Given the description of an element on the screen output the (x, y) to click on. 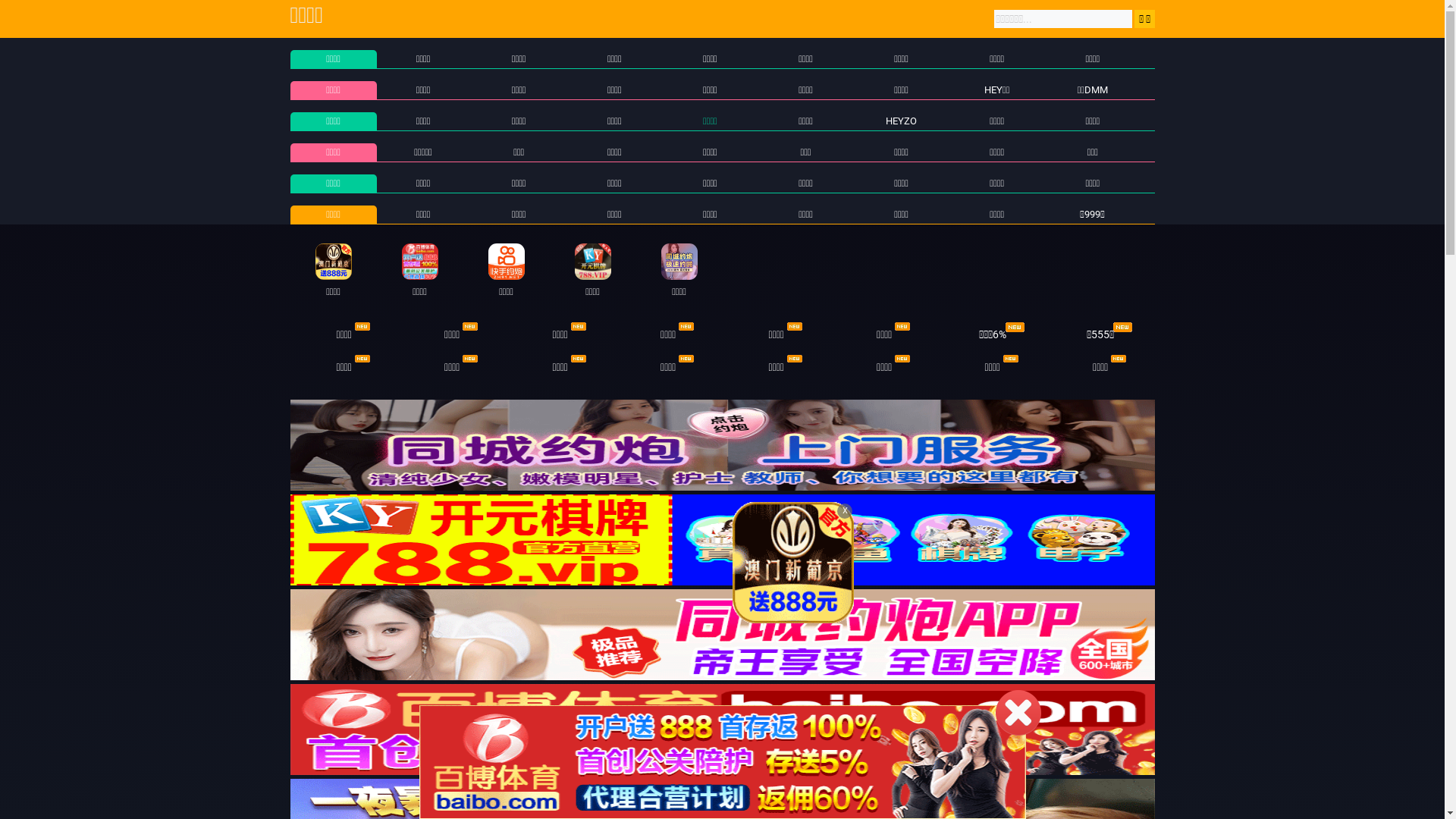
HEYZO Element type: text (900, 120)
